Given the description of an element on the screen output the (x, y) to click on. 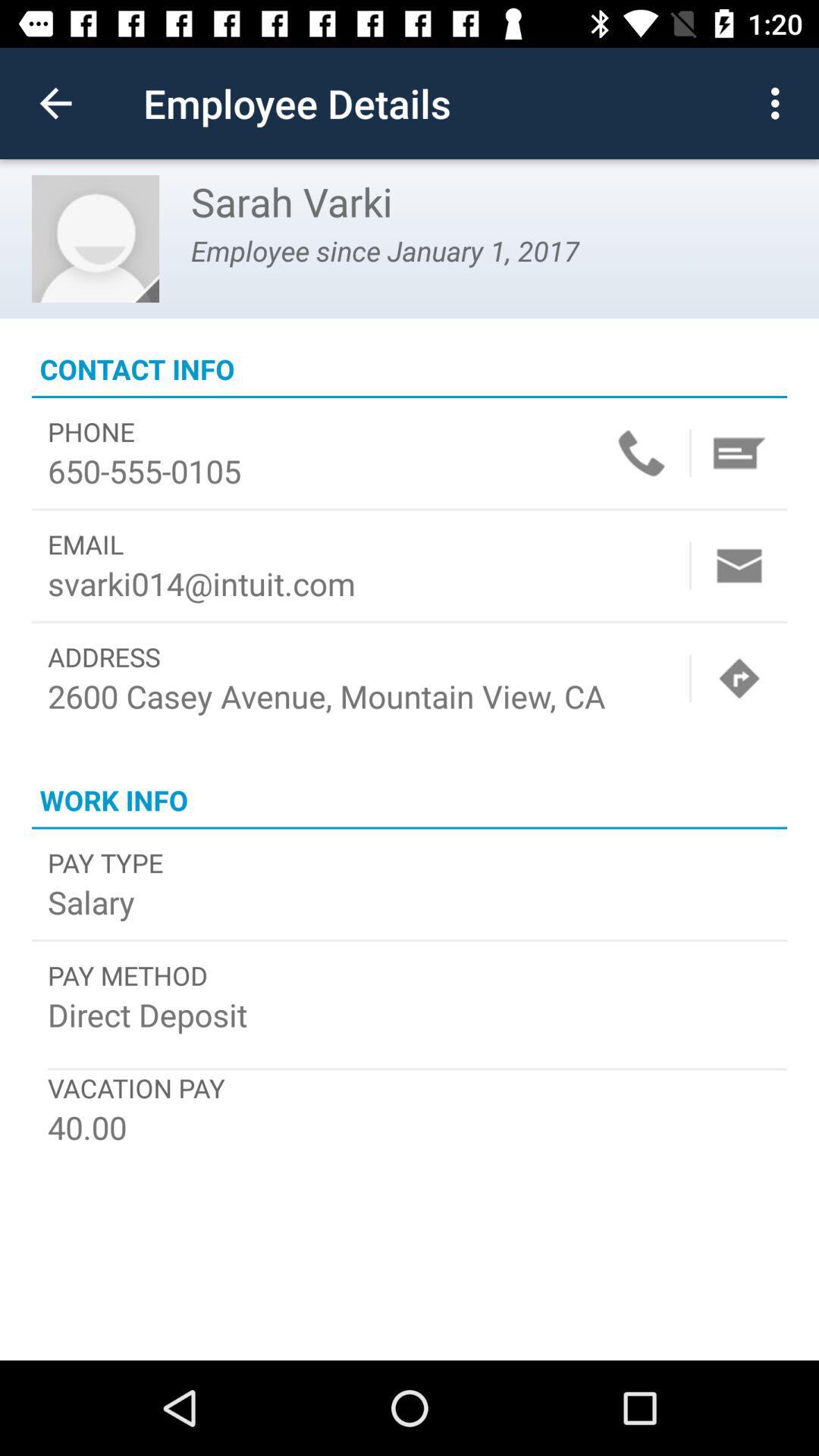
launch item next to employee details icon (55, 103)
